Given the description of an element on the screen output the (x, y) to click on. 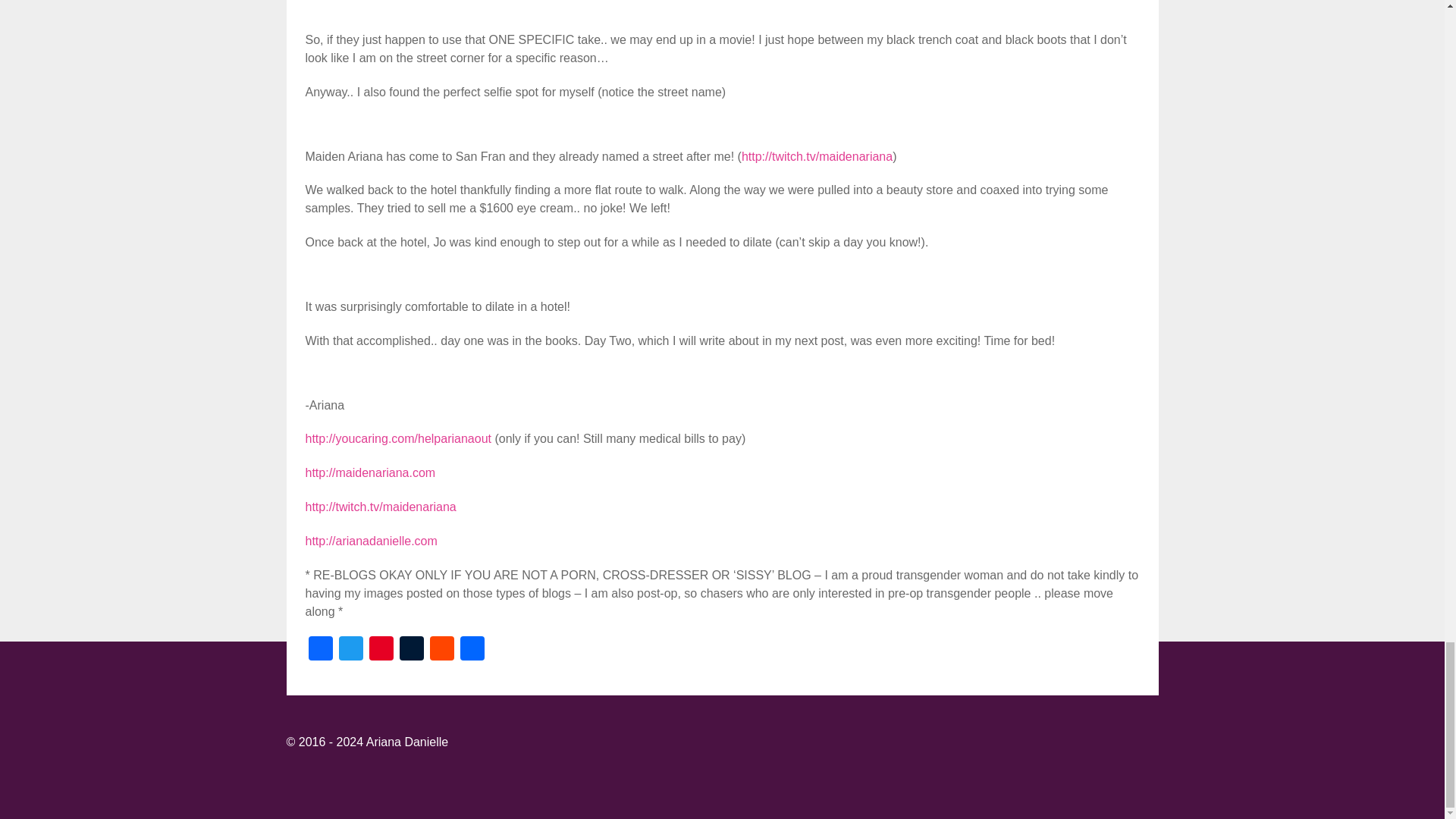
Twitter (349, 650)
Pinterest (380, 650)
Share (471, 650)
Reddit (441, 650)
Reddit (441, 650)
Facebook (319, 650)
Tumblr (411, 650)
Twitter (349, 650)
Facebook (319, 650)
Pinterest (380, 650)
